Given the description of an element on the screen output the (x, y) to click on. 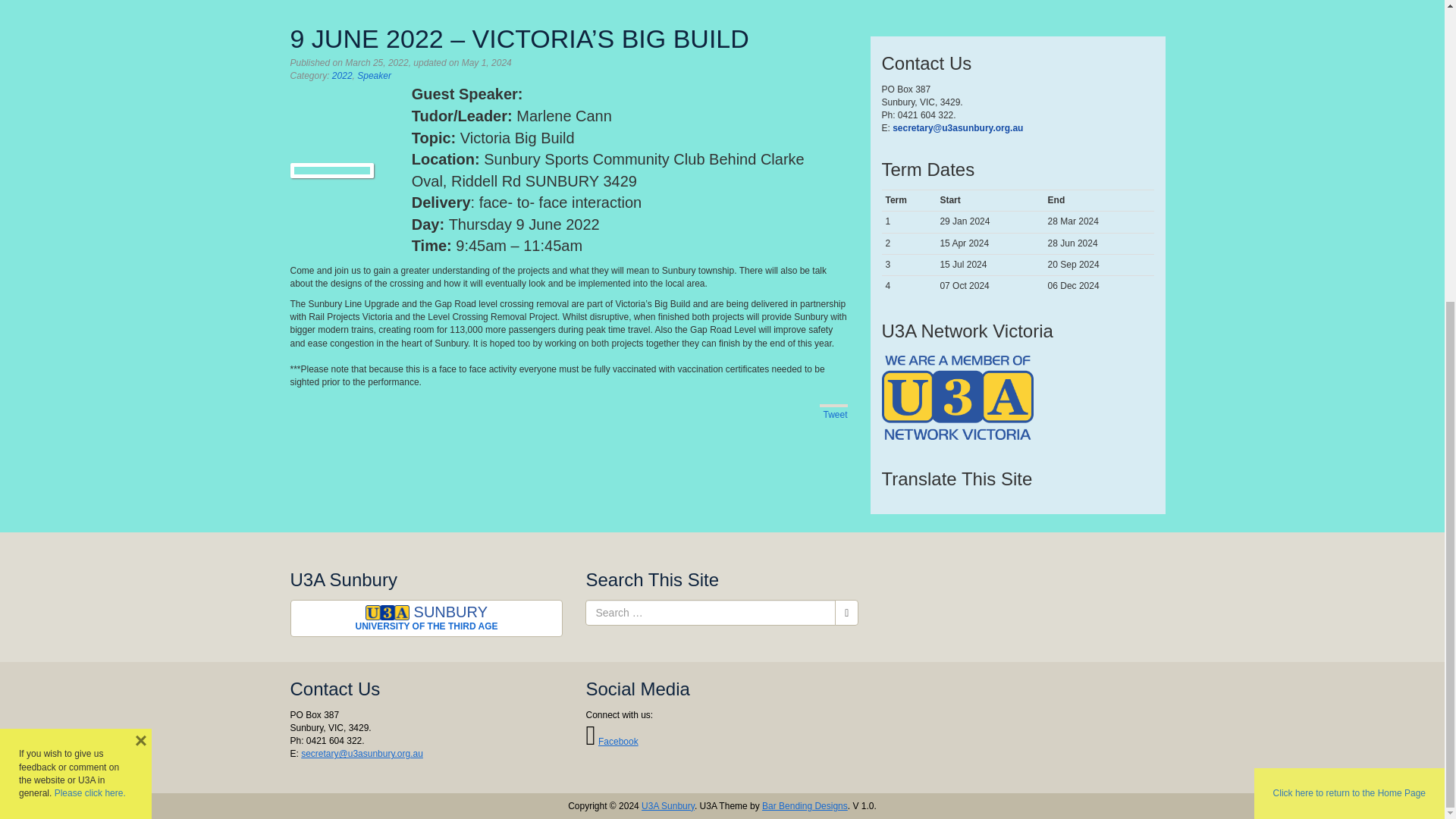
U3A Sunbury (425, 618)
Bar Bending Designs (804, 805)
Search for: (710, 612)
